Given the description of an element on the screen output the (x, y) to click on. 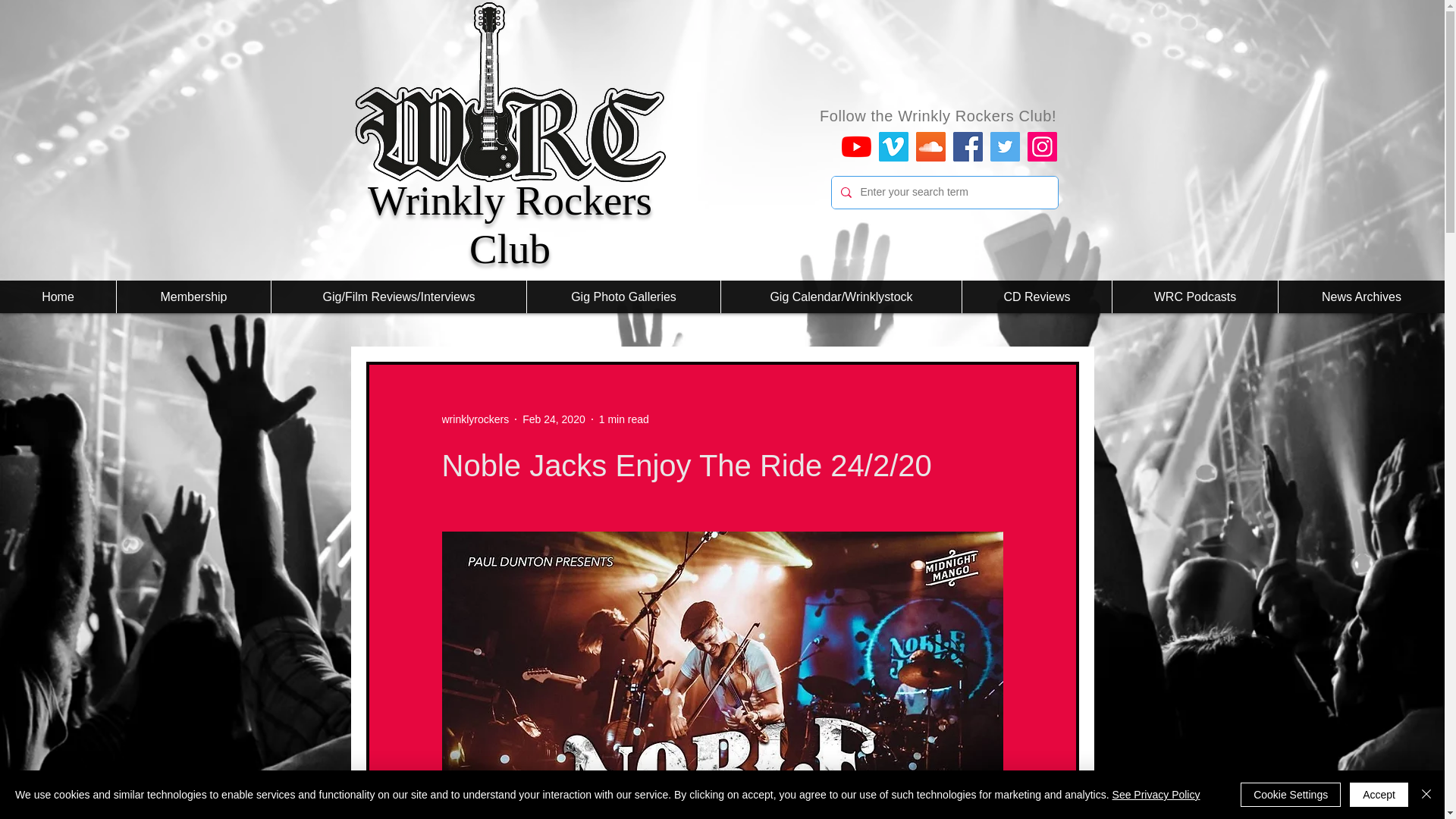
1 min read (623, 418)
WRC Podcasts (1195, 296)
CD Reviews (1036, 296)
Feb 24, 2020 (553, 418)
wrinklyrockers (474, 418)
Home (58, 296)
Wrinkly Rockers Club (510, 223)
wrinklyrockers (474, 418)
Membership (193, 296)
Gig Photo Galleries (622, 296)
